Given the description of an element on the screen output the (x, y) to click on. 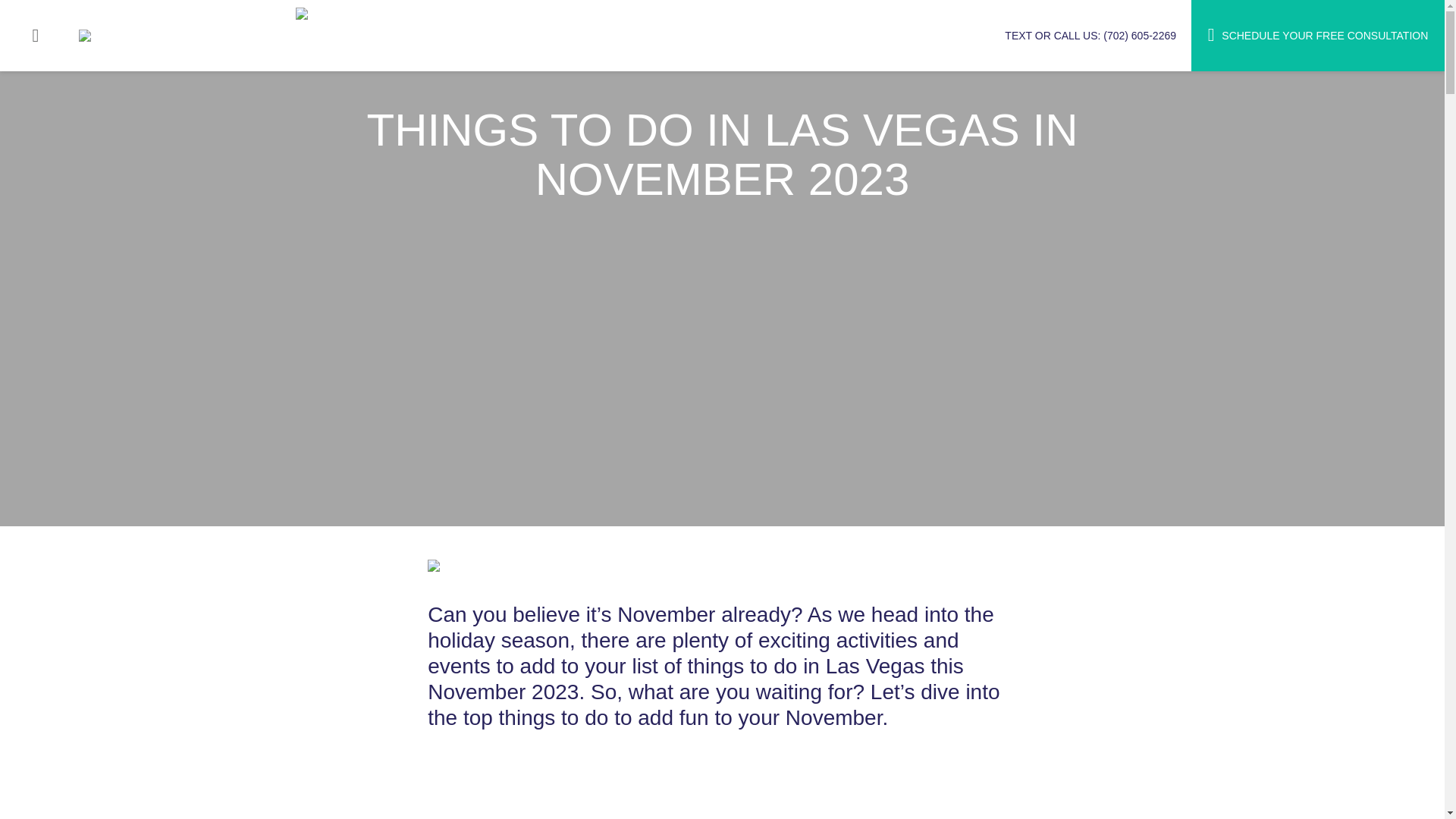
YouTube player (610, 786)
